Given the description of an element on the screen output the (x, y) to click on. 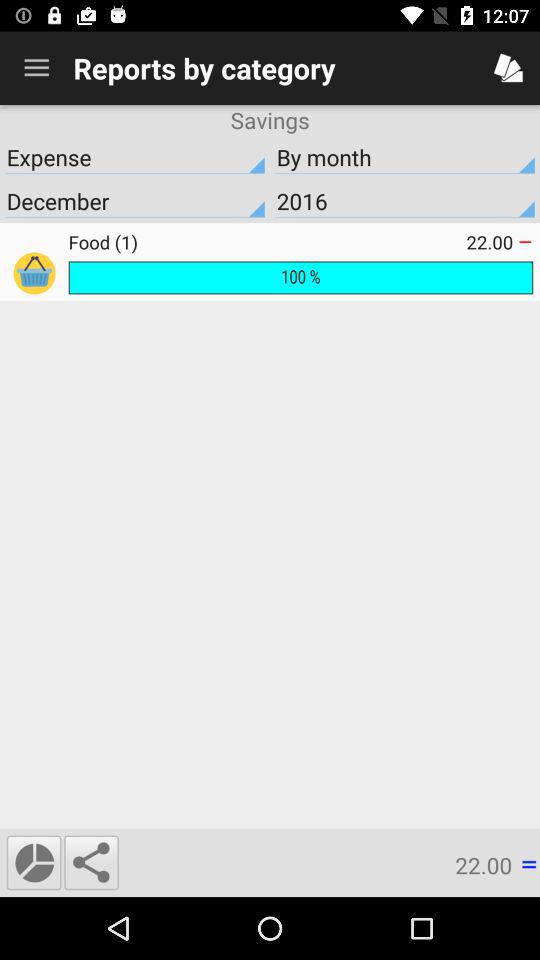
tap the icon next to the expense icon (405, 201)
